Given the description of an element on the screen output the (x, y) to click on. 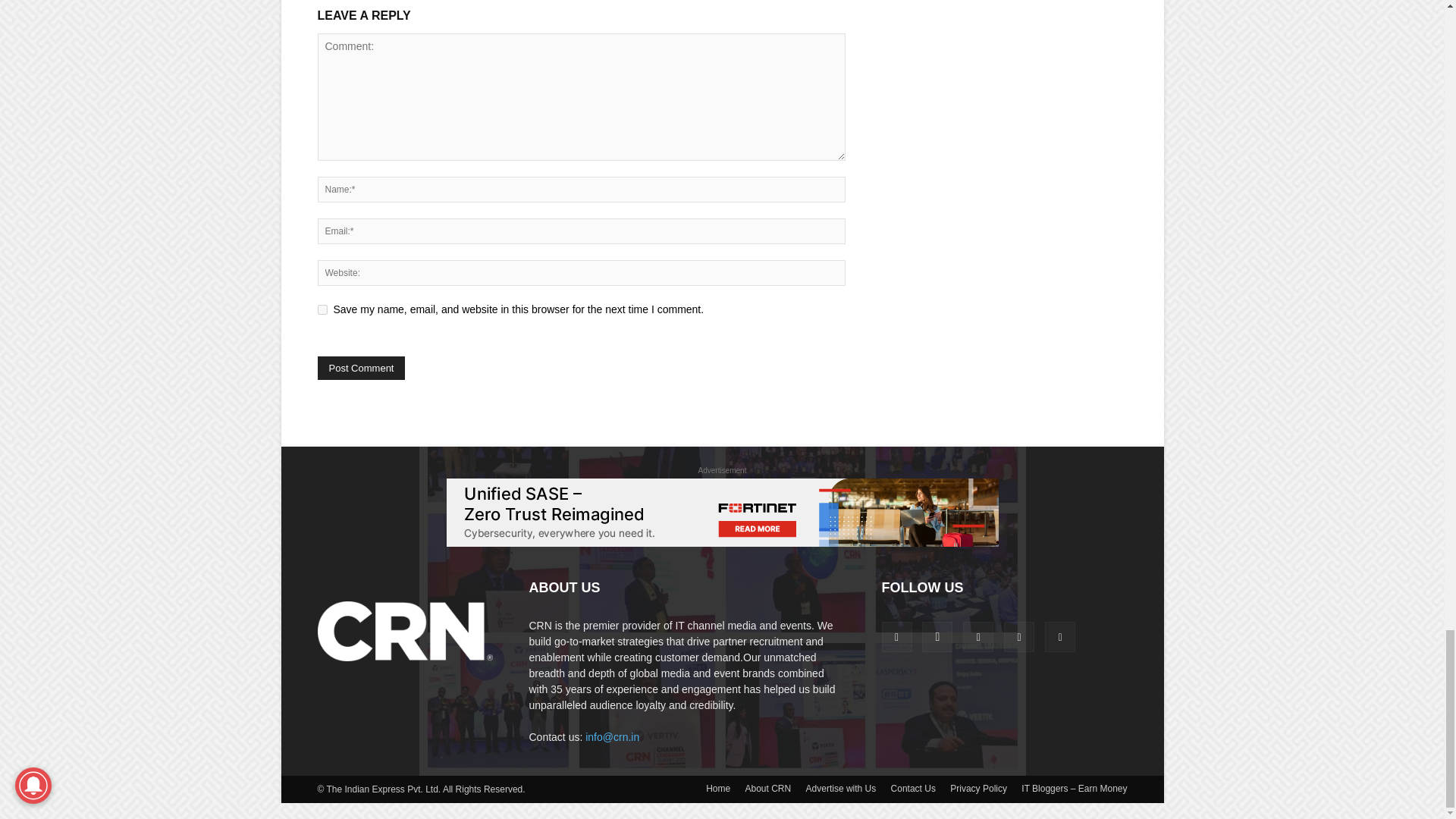
Post Comment (360, 368)
yes (321, 309)
